Given the description of an element on the screen output the (x, y) to click on. 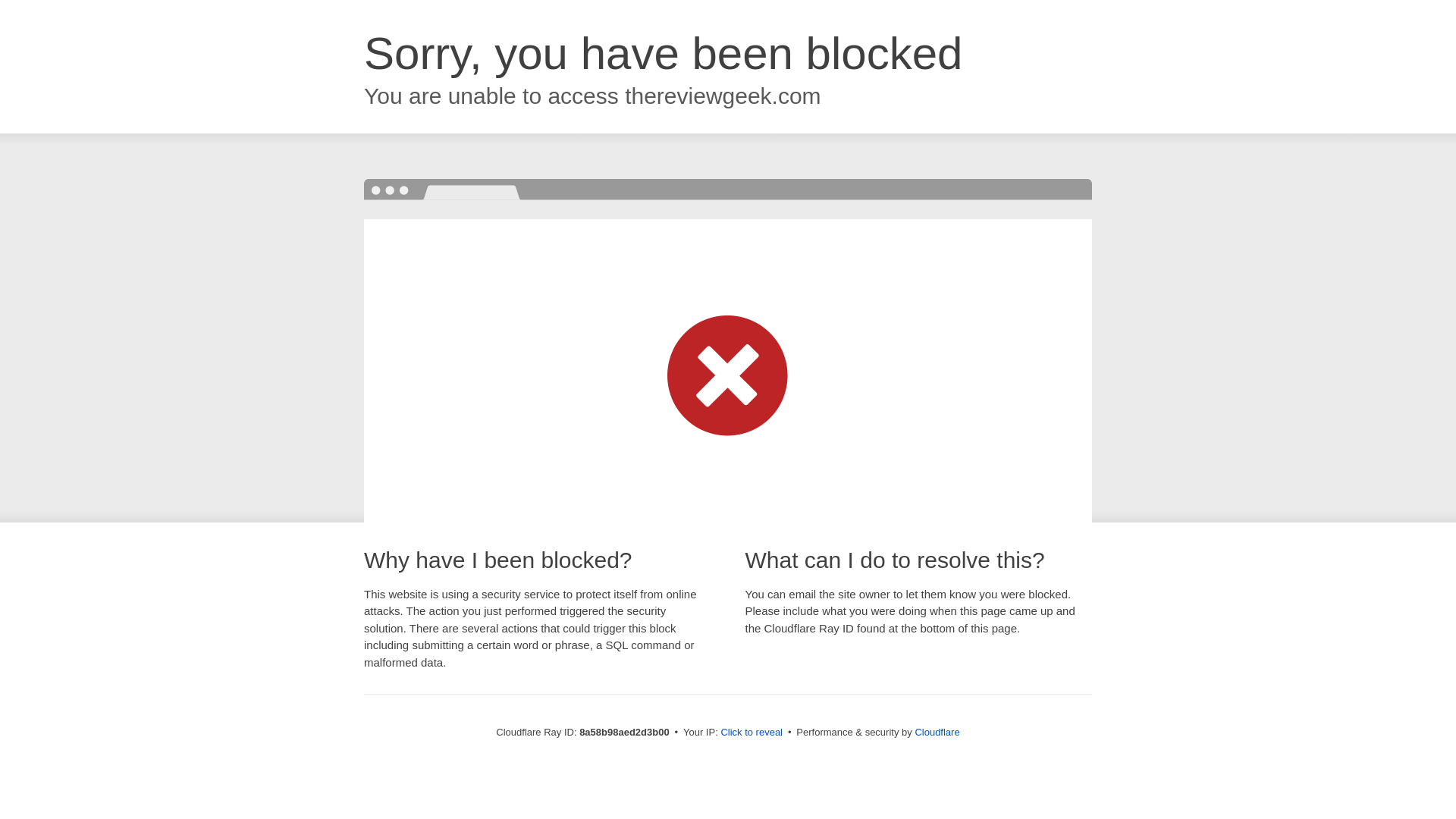
Click to reveal (751, 732)
Cloudflare (936, 731)
